Given the description of an element on the screen output the (x, y) to click on. 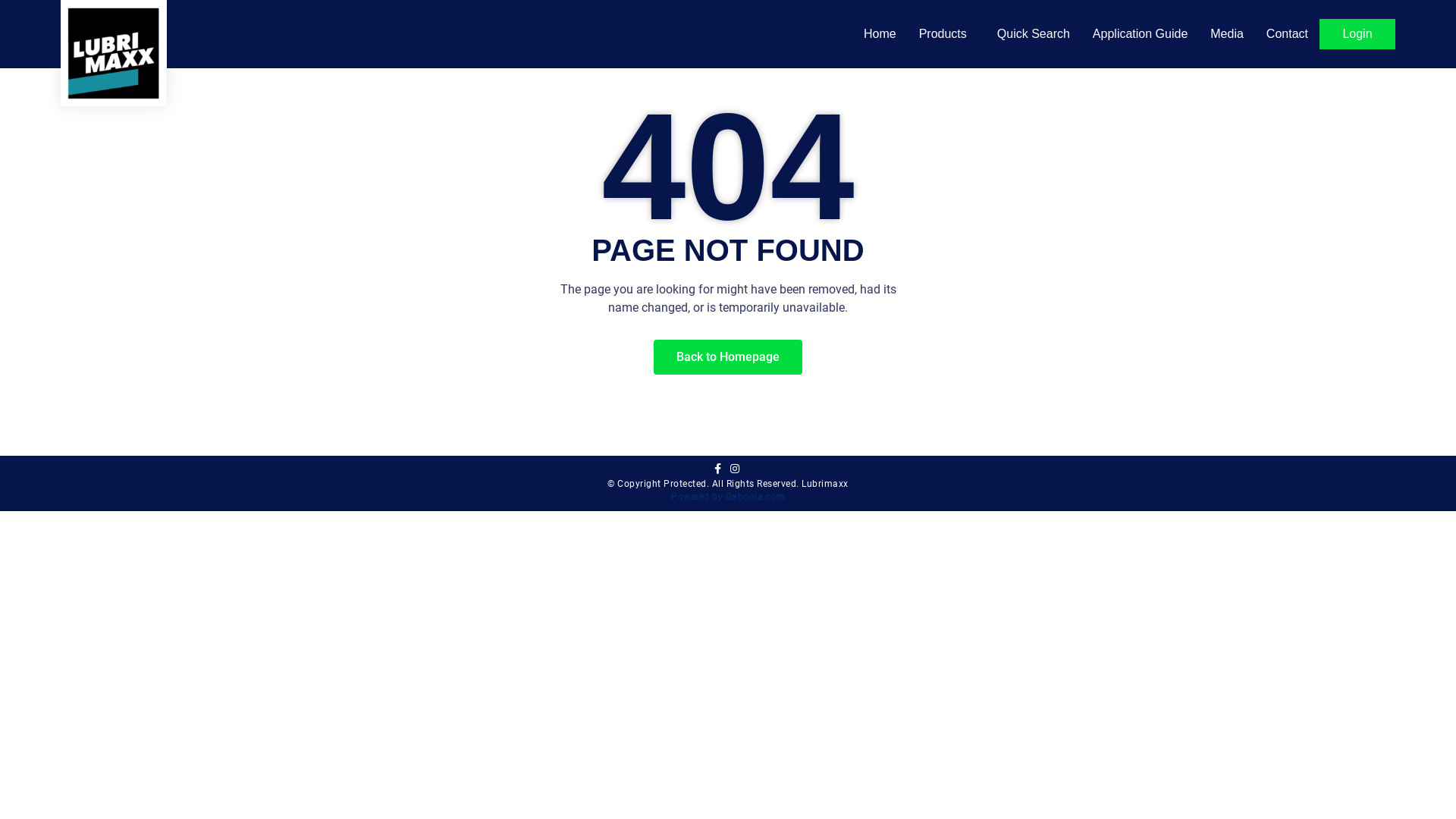
Gaboola.com Element type: text (754, 496)
Products Element type: text (946, 34)
Application Guide Element type: text (1139, 34)
Quick Search Element type: text (1033, 34)
Login Element type: text (1357, 33)
Home Element type: text (879, 34)
Back to Homepage Element type: text (727, 356)
Contact Element type: text (1287, 34)
Media Element type: text (1226, 34)
